Given the description of an element on the screen output the (x, y) to click on. 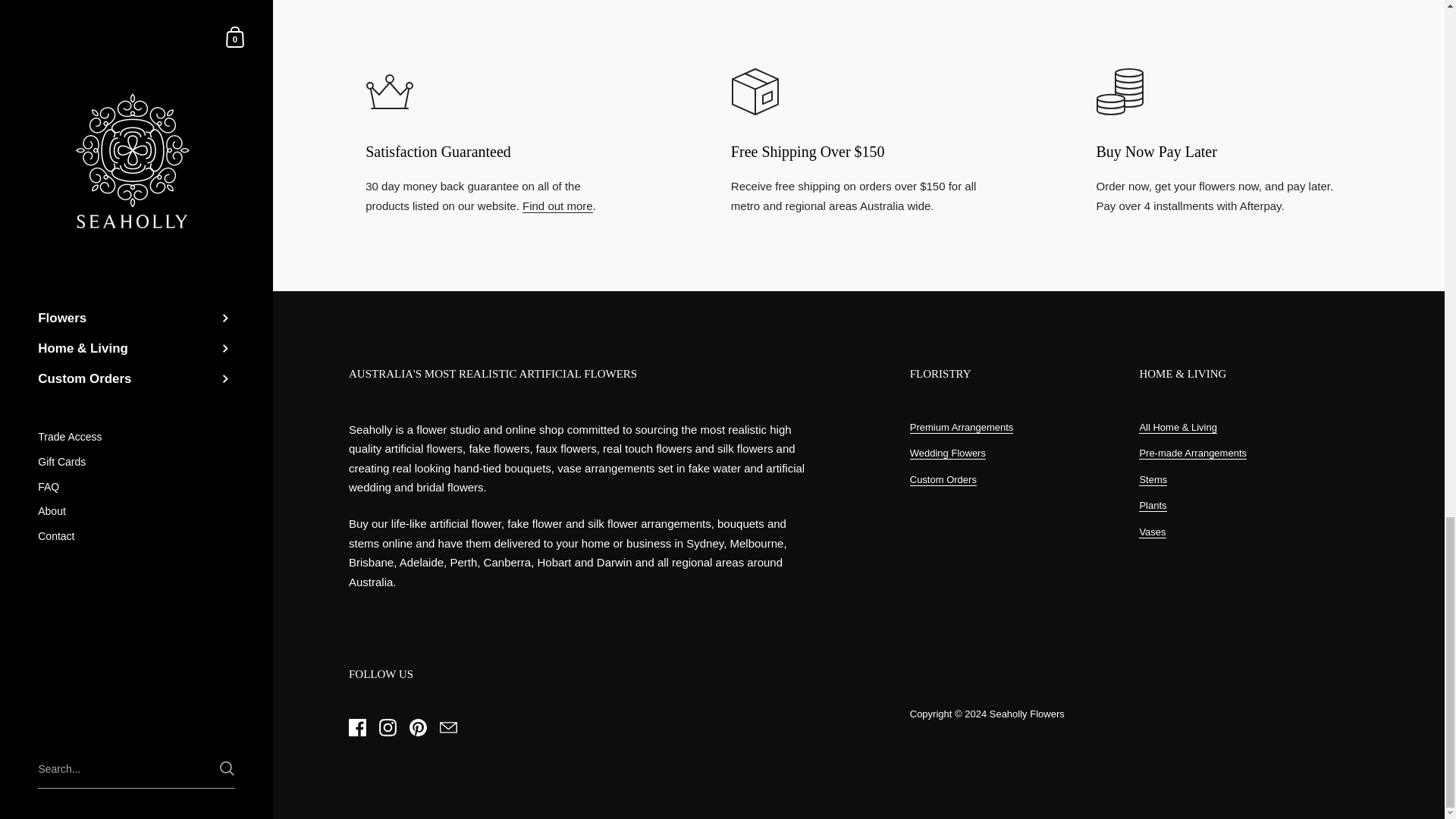
Premium Arrangements (961, 427)
Custom Orders (943, 480)
Wedding Flowers (947, 453)
Pre-made Arrangements (1192, 453)
Easy Returns (557, 205)
Find out more (557, 205)
